Given the description of an element on the screen output the (x, y) to click on. 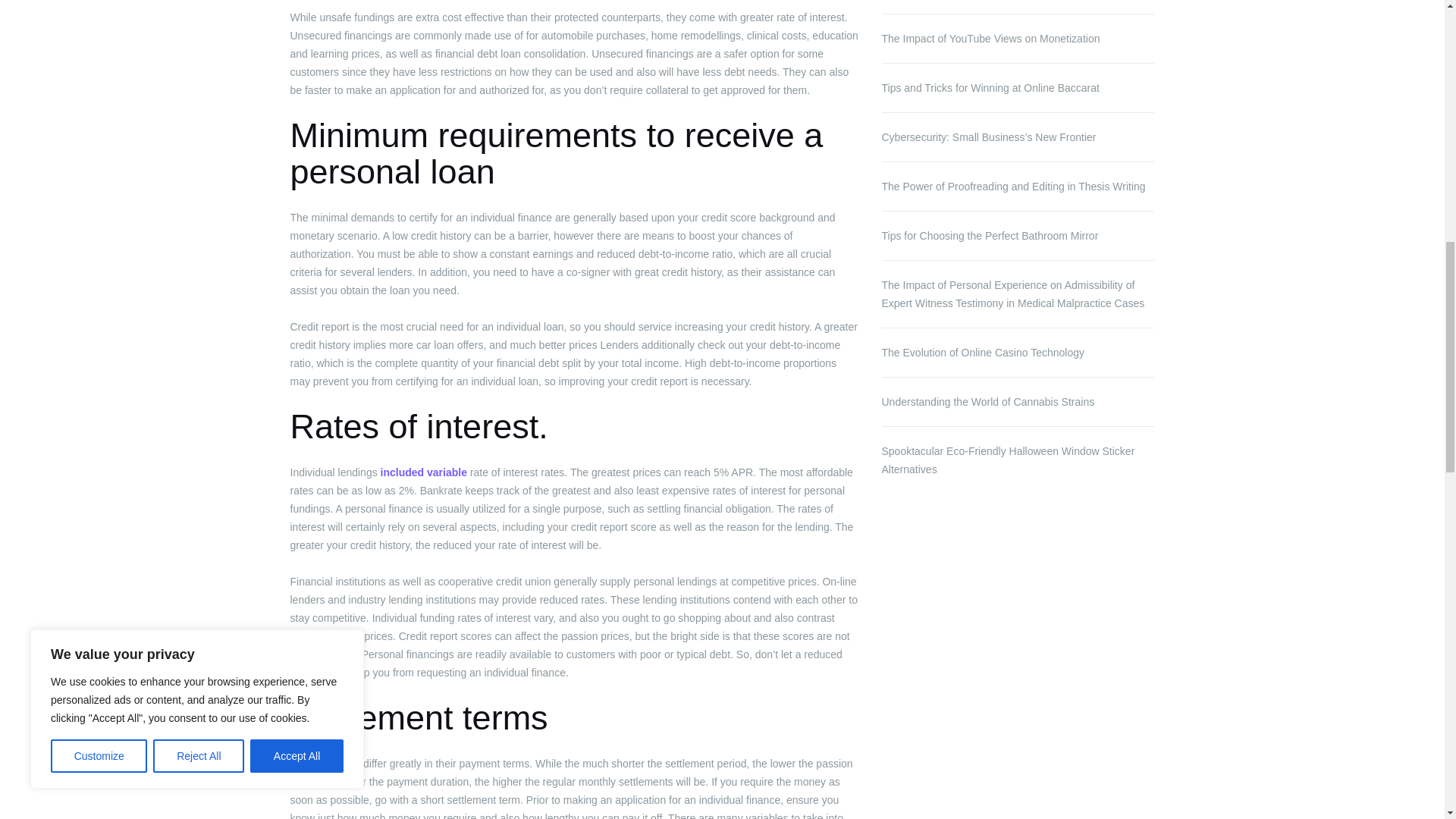
included variable (423, 472)
